Given the description of an element on the screen output the (x, y) to click on. 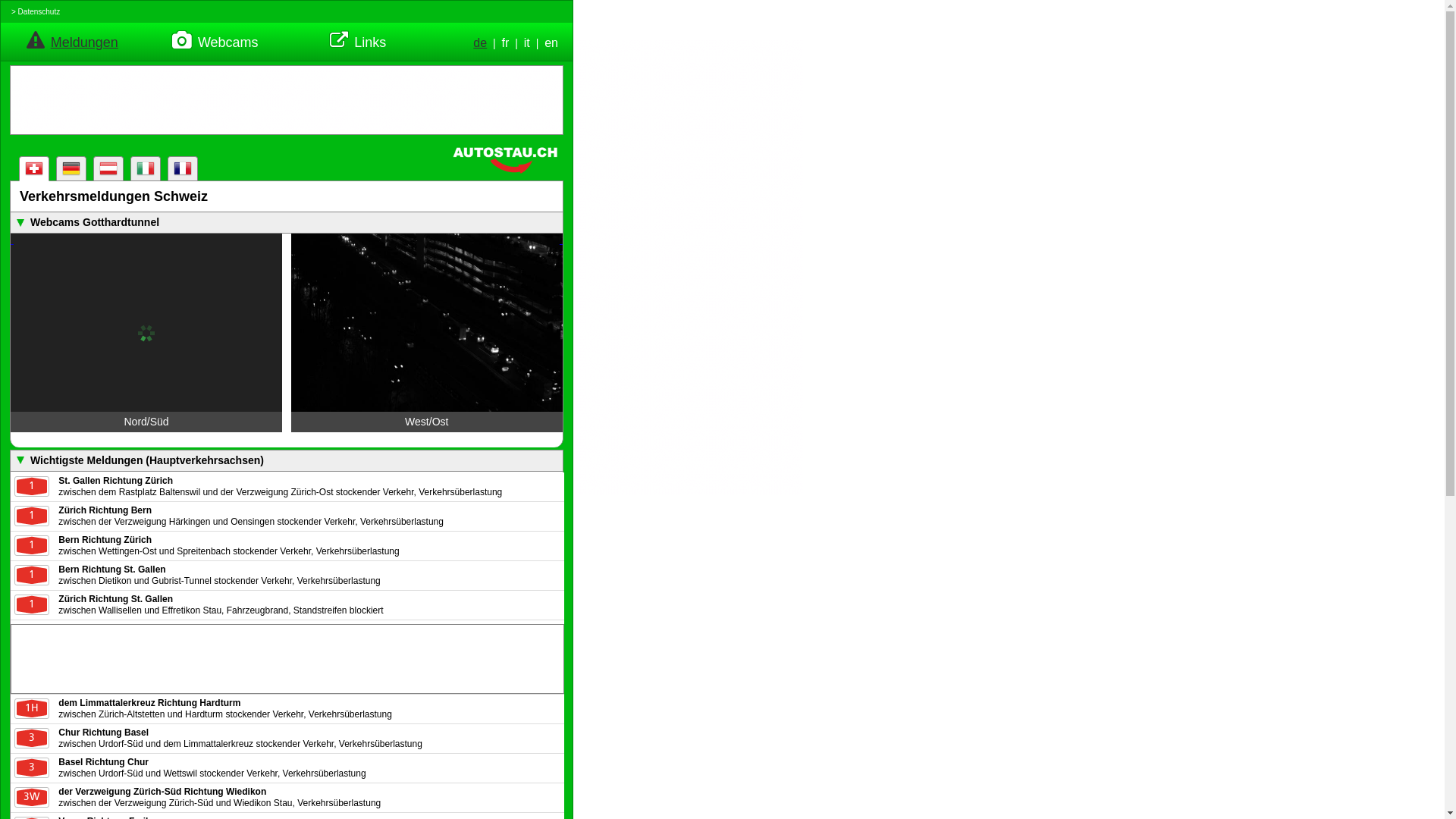
  Element type: text (426, 322)
3rd party ad content Element type: hover (688, 266)
> Datenschutz Element type: text (35, 11)
  Element type: text (146, 322)
it Element type: text (526, 43)
3rd party ad content Element type: hover (286, 99)
fr Element type: text (505, 43)
de Element type: text (479, 43)
Webcams Gotthardtunnel Element type: text (295, 222)
en Element type: text (551, 43)
Wichtigste Meldungen (Hauptverkehrsachsen) Element type: text (295, 460)
